Given the description of an element on the screen output the (x, y) to click on. 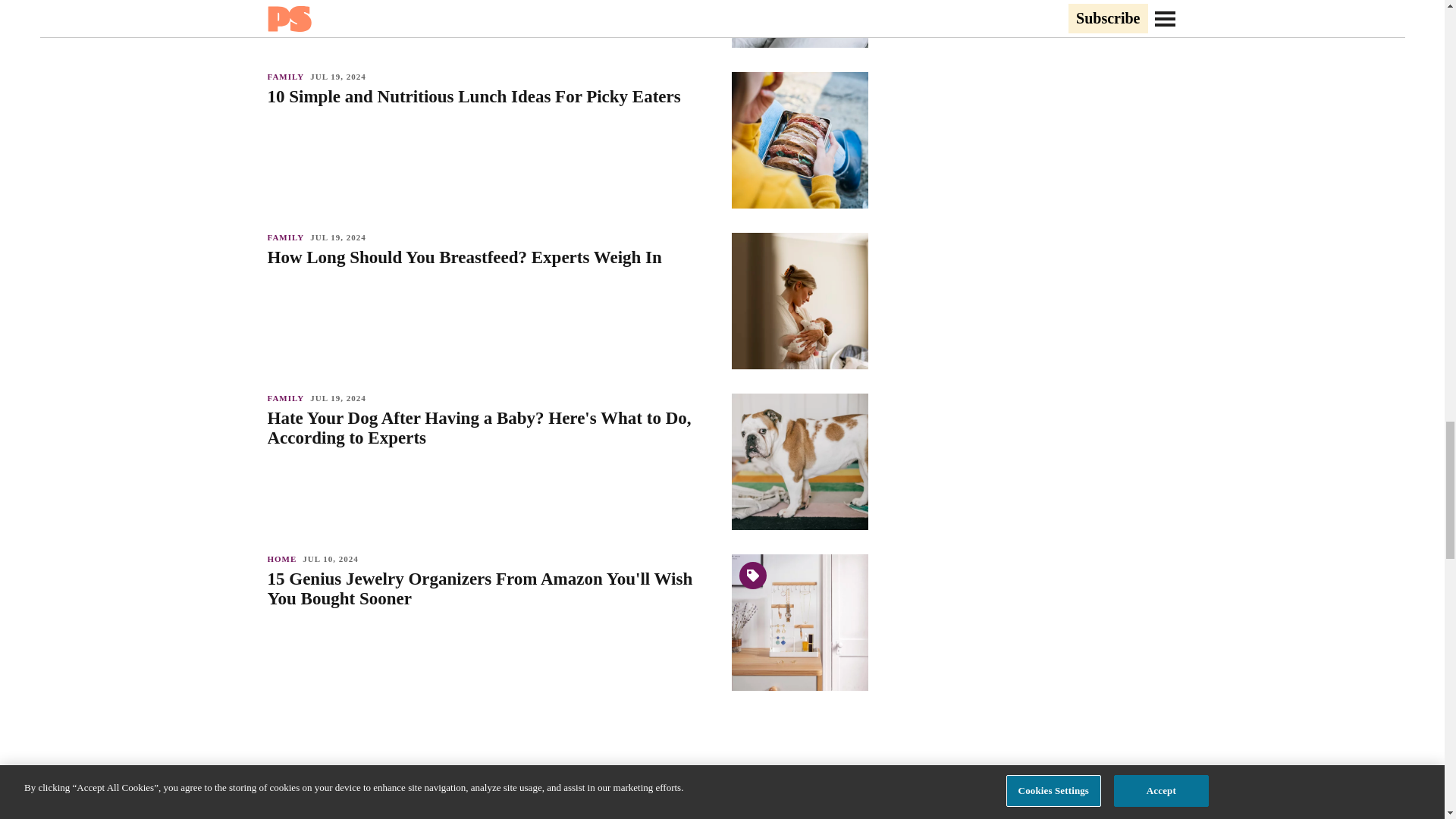
10 Simple and Nutritious Lunch Ideas For Picky Eaters (491, 96)
FAMILY (288, 76)
FAMILY (288, 397)
How Long Should You Breastfeed? Experts Weigh In (491, 257)
FAMILY (288, 236)
